Given the description of an element on the screen output the (x, y) to click on. 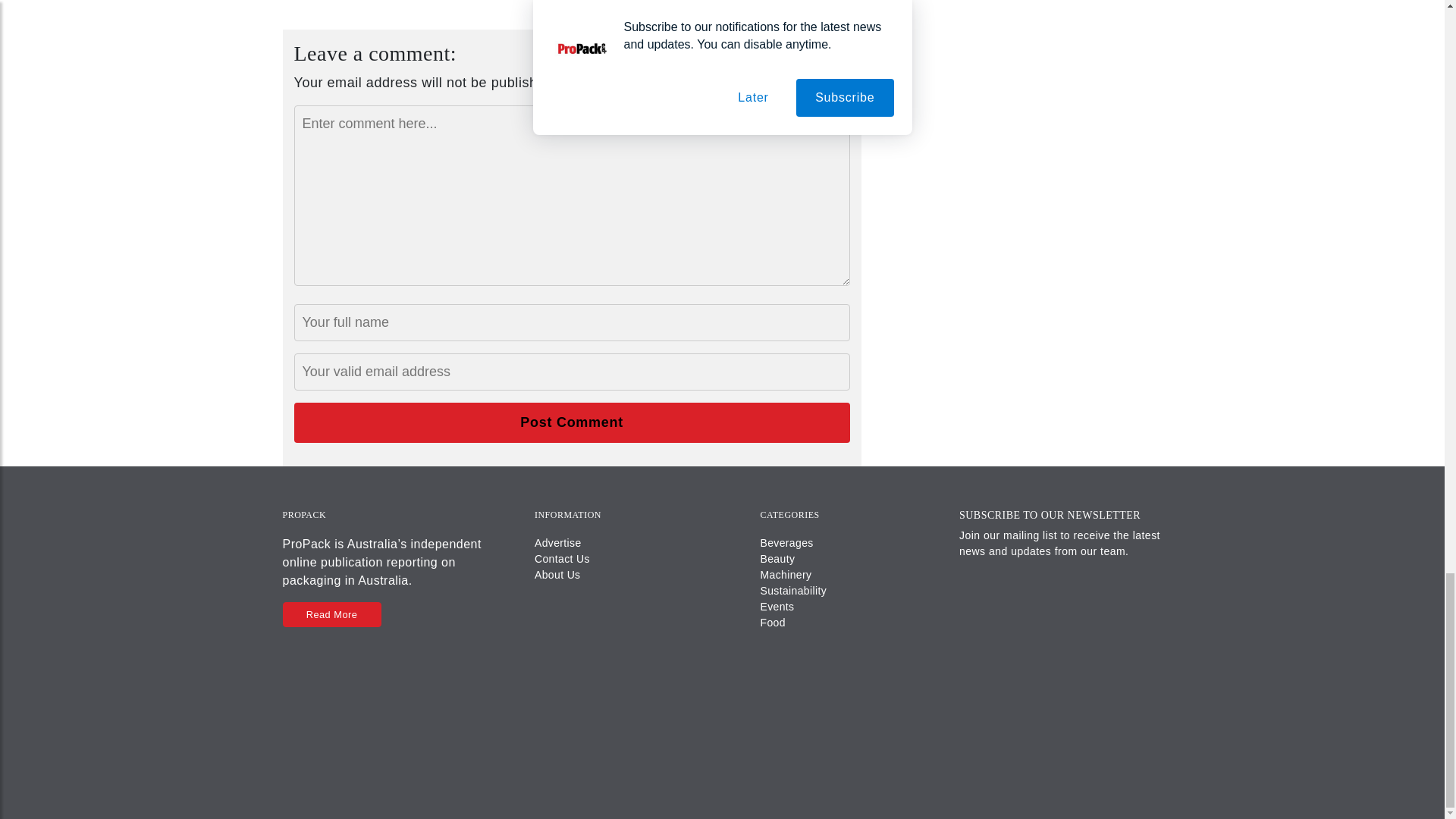
arnotts (586, 2)
Post Comment (572, 422)
Read More (331, 614)
Post Comment (572, 422)
